Given the description of an element on the screen output the (x, y) to click on. 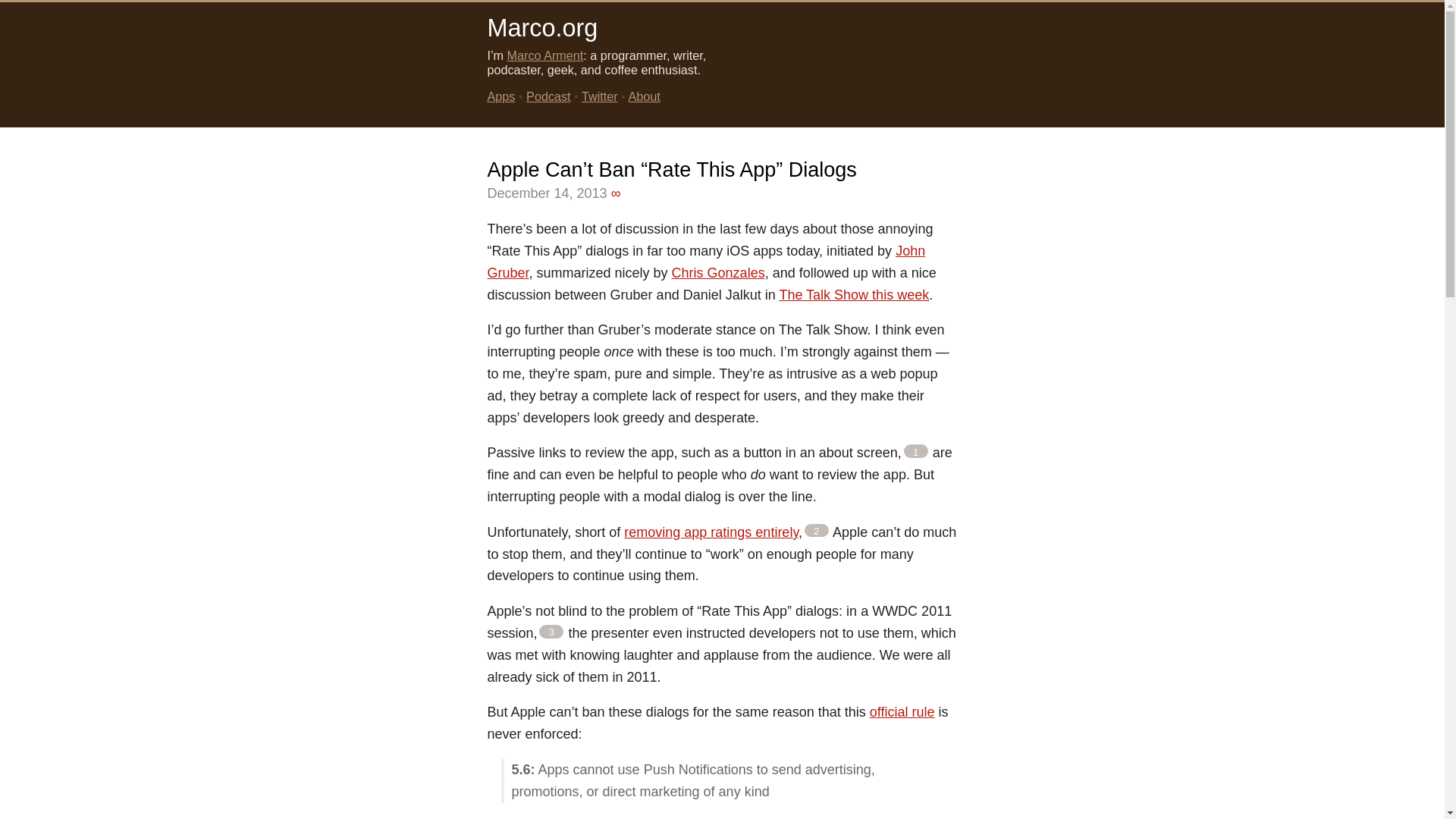
Marco.org (541, 27)
removing app ratings entirely (710, 531)
About (643, 96)
Chris Gonzales (718, 272)
Podcast (547, 96)
Apps (500, 96)
2 (816, 530)
3 (550, 631)
1 (916, 450)
official rule (901, 711)
